Given the description of an element on the screen output the (x, y) to click on. 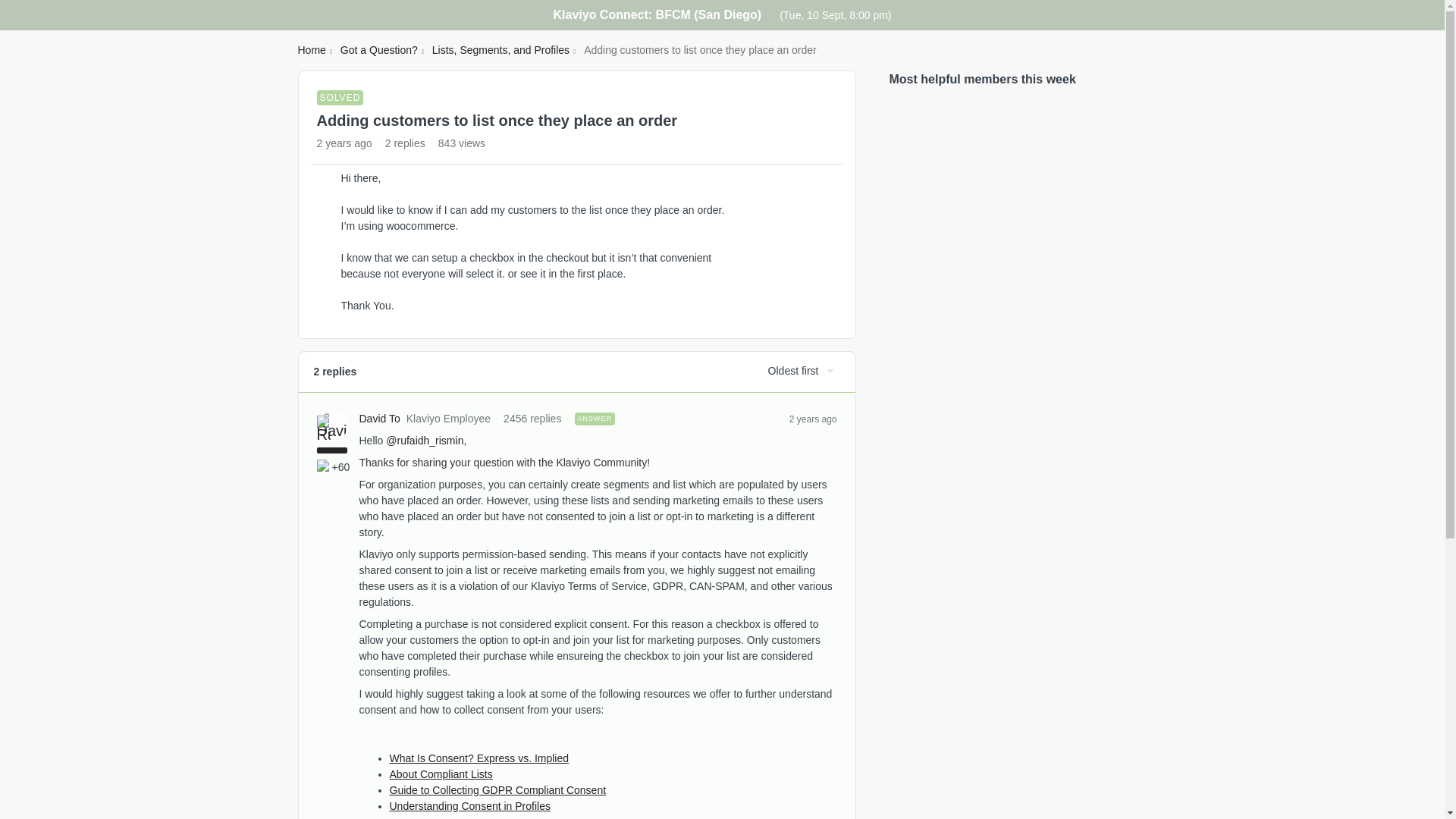
2 replies (405, 143)
David To (379, 418)
David To (379, 418)
Understanding Consent in Profiles (470, 805)
2 years ago (813, 418)
About Compliant Lists (441, 773)
Lists, Segments, and Profiles (500, 50)
Home (310, 50)
Guide to Collecting GDPR Compliant Consent (498, 789)
What Is Consent? Express vs. Implied (479, 758)
